Given the description of an element on the screen output the (x, y) to click on. 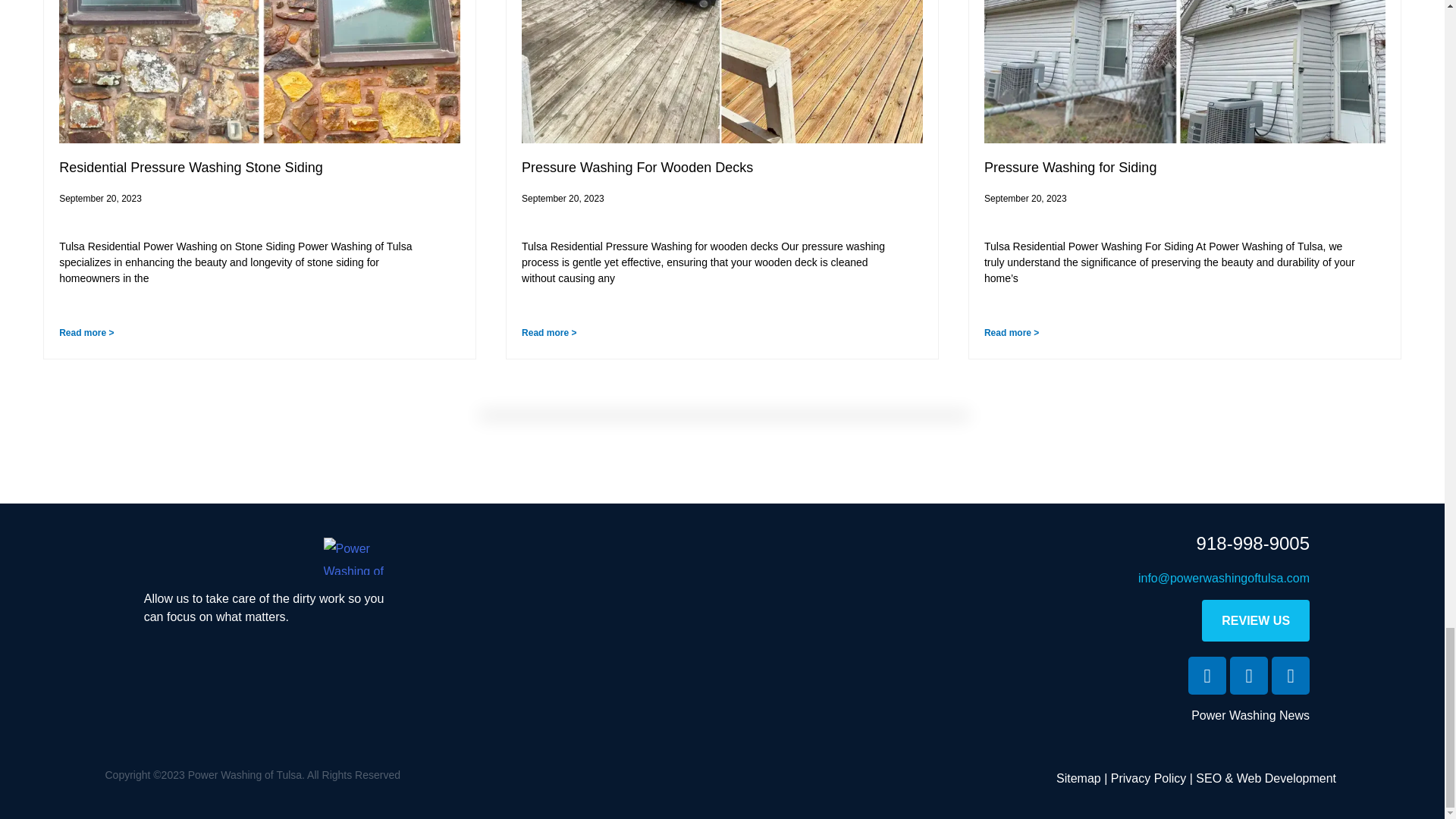
918-998-9005 (1252, 543)
Sitemap (1078, 778)
Privacy Policy (1148, 778)
Instagram (1289, 675)
Pressure Washing For Wooden Decks (636, 167)
Residential Pressure Washing Stone Siding  (192, 167)
Web Development (1286, 778)
REVIEW US (1255, 620)
Tiktok (1249, 675)
Facebook (1206, 675)
SEO (1208, 778)
Power Washing News (1249, 715)
Pressure Washing for Siding (1070, 167)
